Given the description of an element on the screen output the (x, y) to click on. 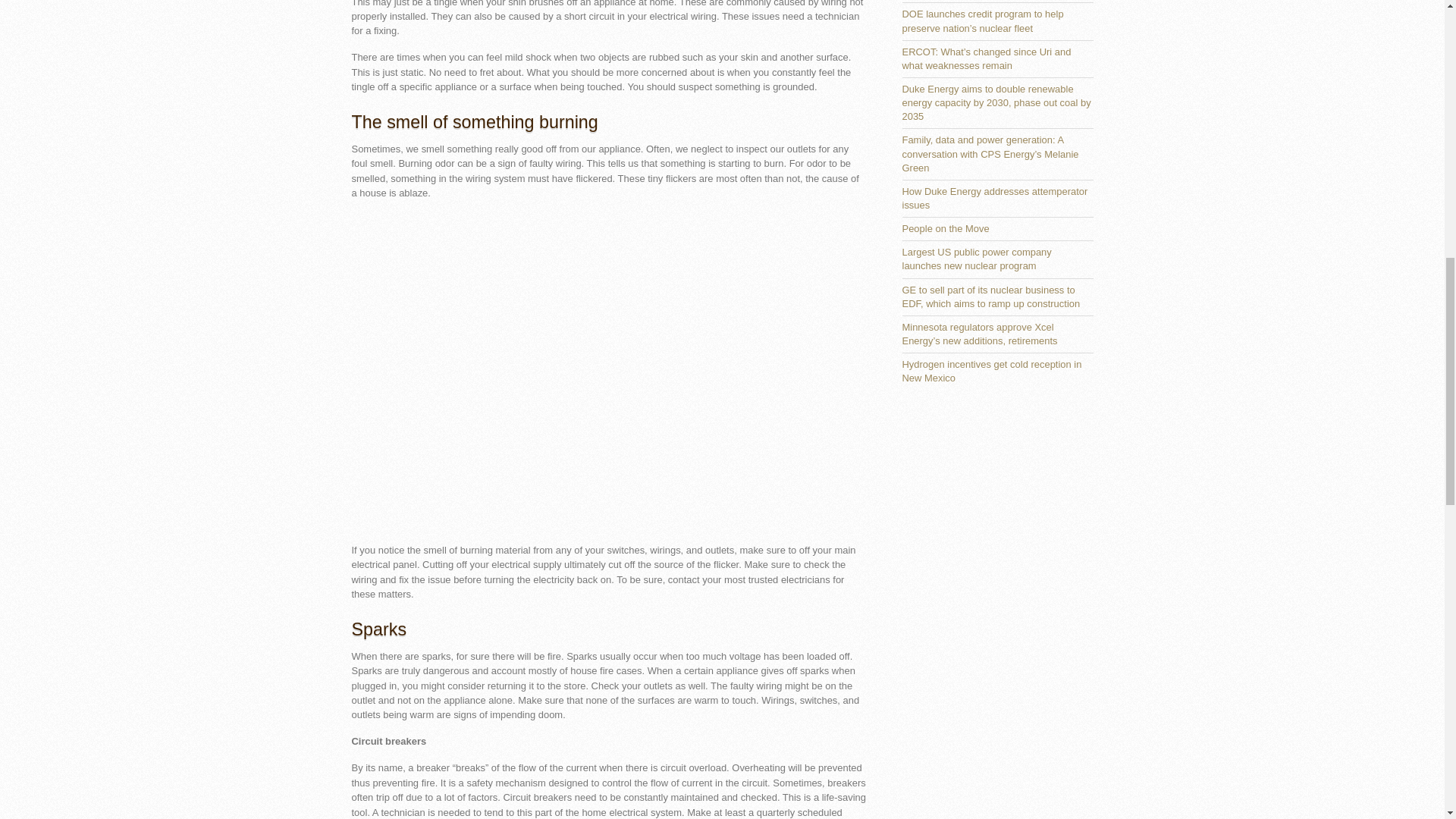
How Duke Energy addresses attemperator issues (994, 197)
Hydrogen incentives get cold reception in New Mexico (991, 371)
Largest US public power company launches new nuclear program (976, 258)
People on the Move (946, 228)
